Given the description of an element on the screen output the (x, y) to click on. 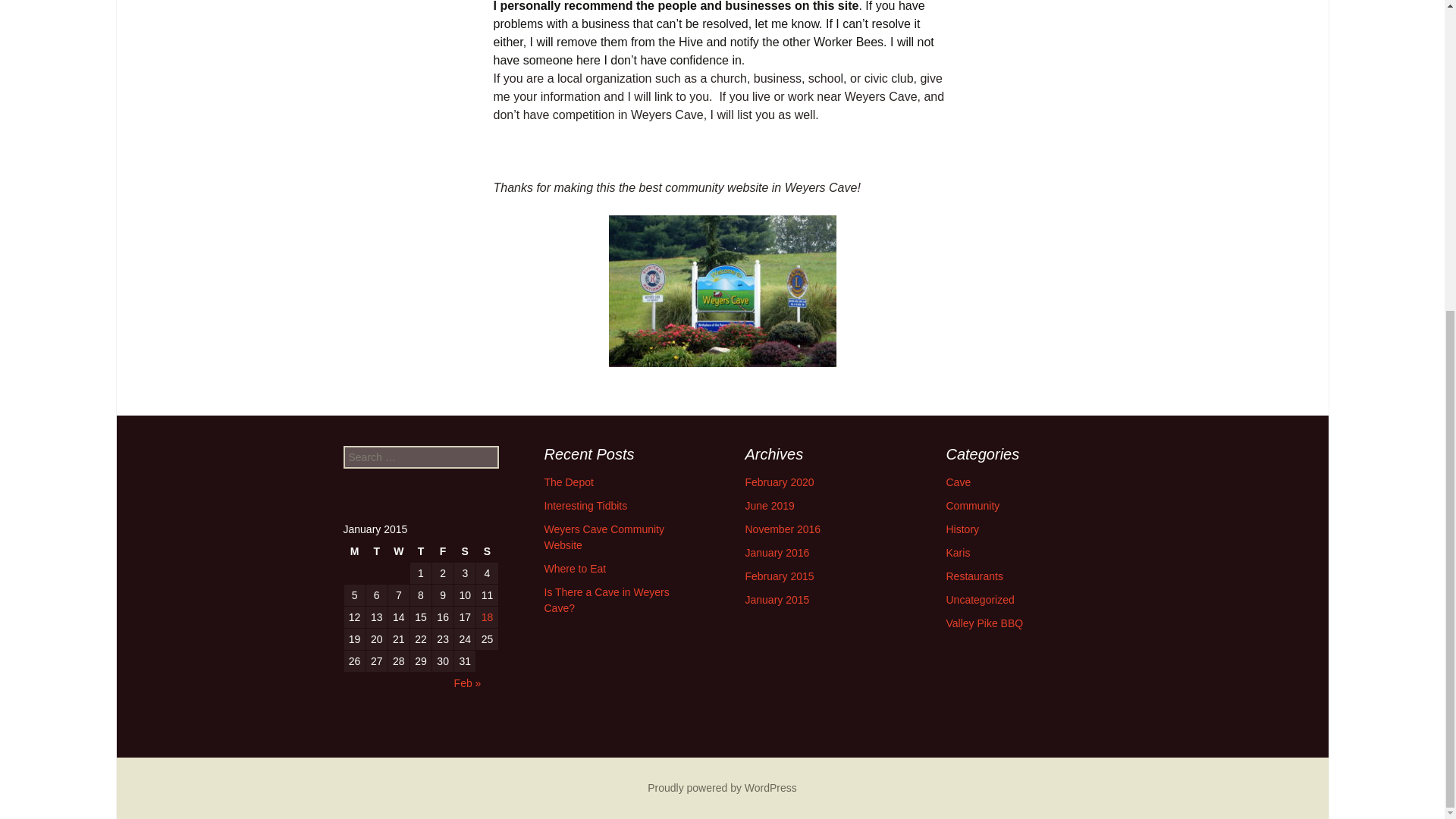
February 2020 (778, 481)
Restaurants (974, 576)
Uncategorized (980, 599)
Sunday (486, 550)
Tuesday (376, 550)
November 2016 (782, 529)
Community (973, 505)
Friday (442, 550)
February 2015 (778, 576)
Weyers Cave Community Website (603, 537)
